Given the description of an element on the screen output the (x, y) to click on. 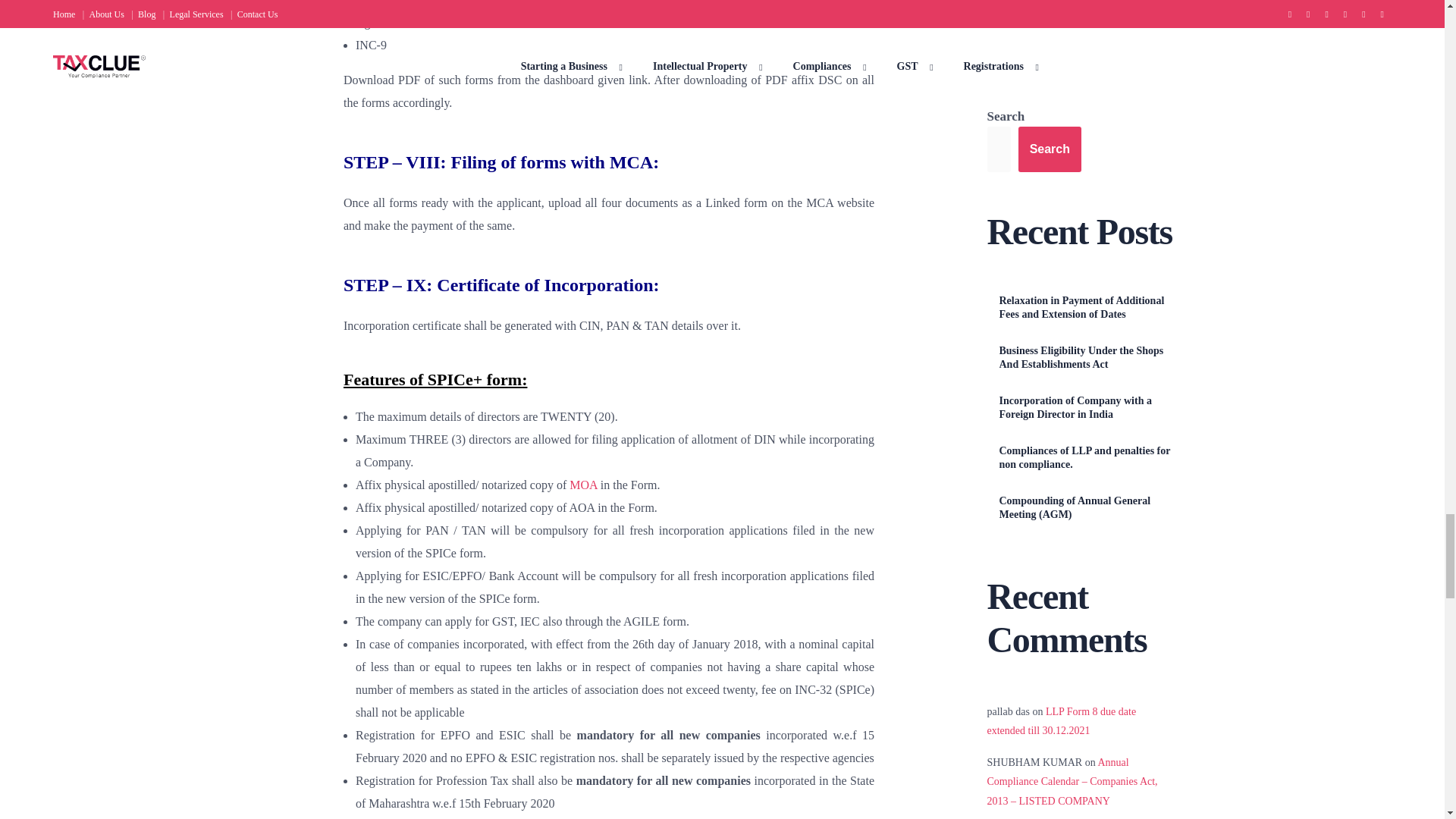
MOA (582, 484)
